Given the description of an element on the screen output the (x, y) to click on. 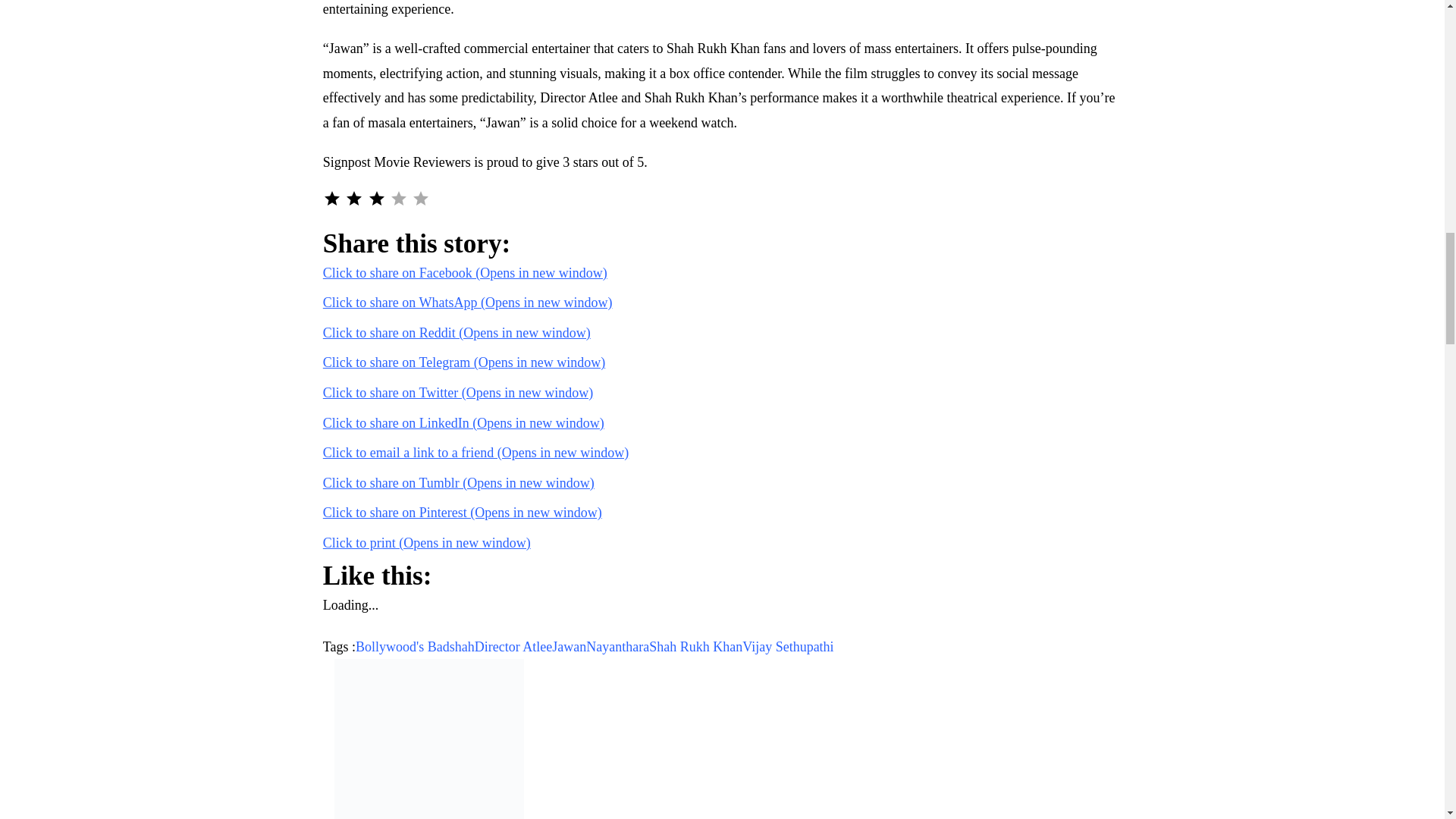
Click to share on LinkedIn (463, 422)
Click to share on WhatsApp (467, 302)
Click to share on Pinterest (462, 512)
Click to share on Telegram (464, 362)
Click to share on Reddit (457, 332)
Click to share on Facebook (465, 272)
Click to share on Twitter (457, 392)
Click to share on Tumblr (458, 482)
Click to print (427, 542)
Click to email a link to a friend (475, 452)
